Given the description of an element on the screen output the (x, y) to click on. 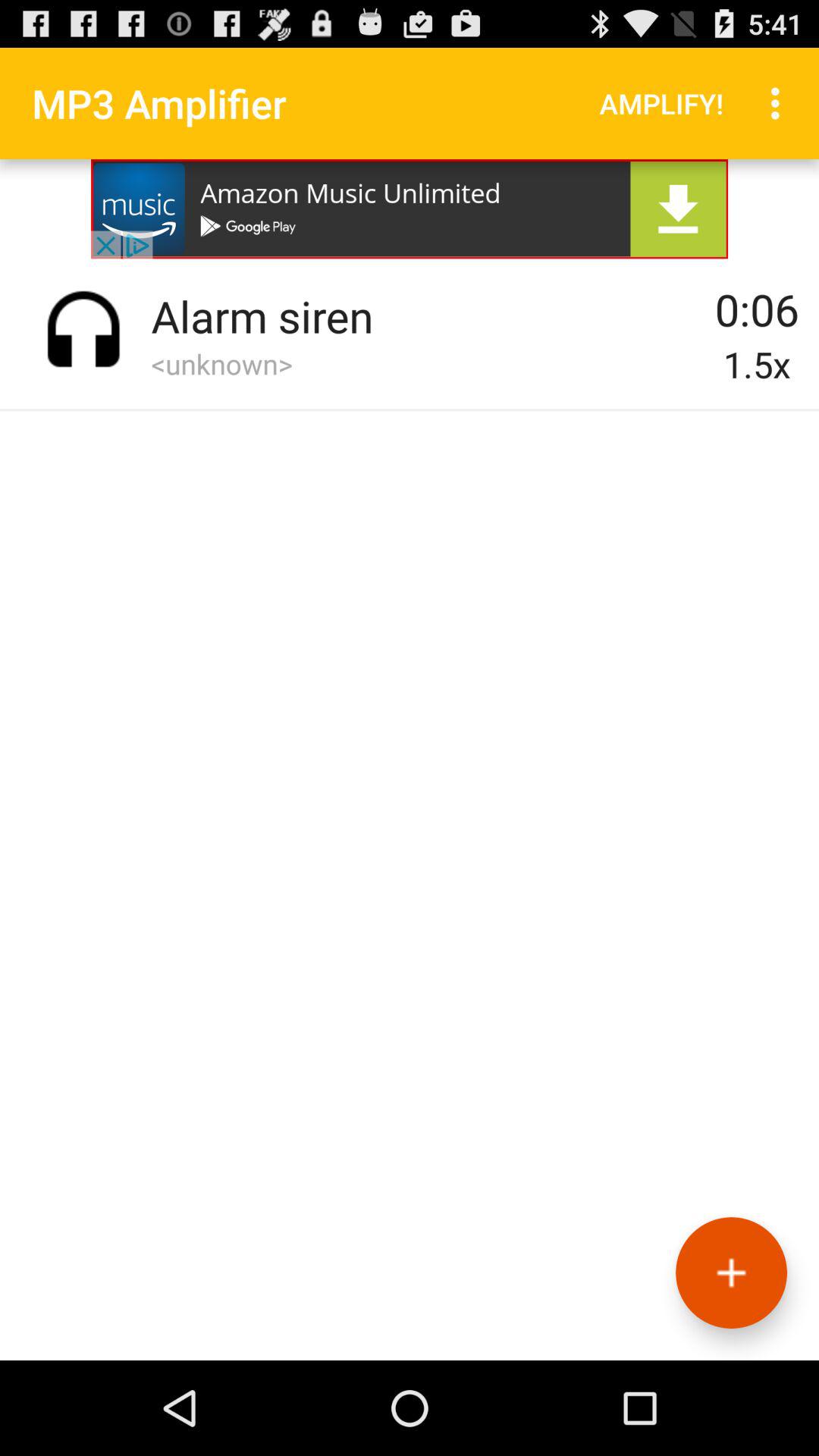
view advertisement (409, 208)
